Given the description of an element on the screen output the (x, y) to click on. 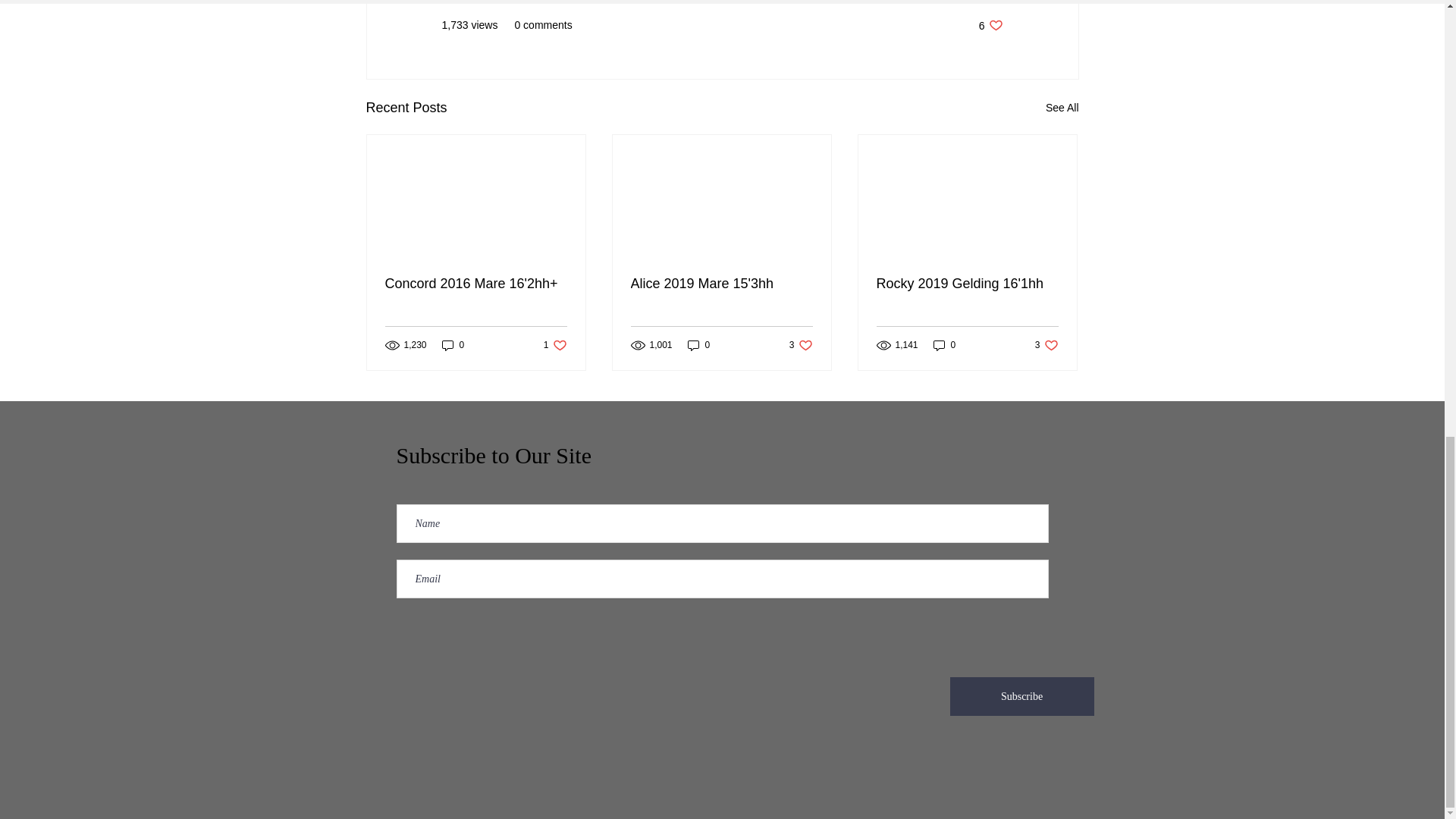
0 (555, 344)
Alice 2019 Mare 15'3hh (944, 344)
Rocky 2019 Gelding 16'1hh (1046, 344)
Subscribe (721, 283)
0 (990, 25)
See All (967, 283)
0 (1021, 696)
